Given the description of an element on the screen output the (x, y) to click on. 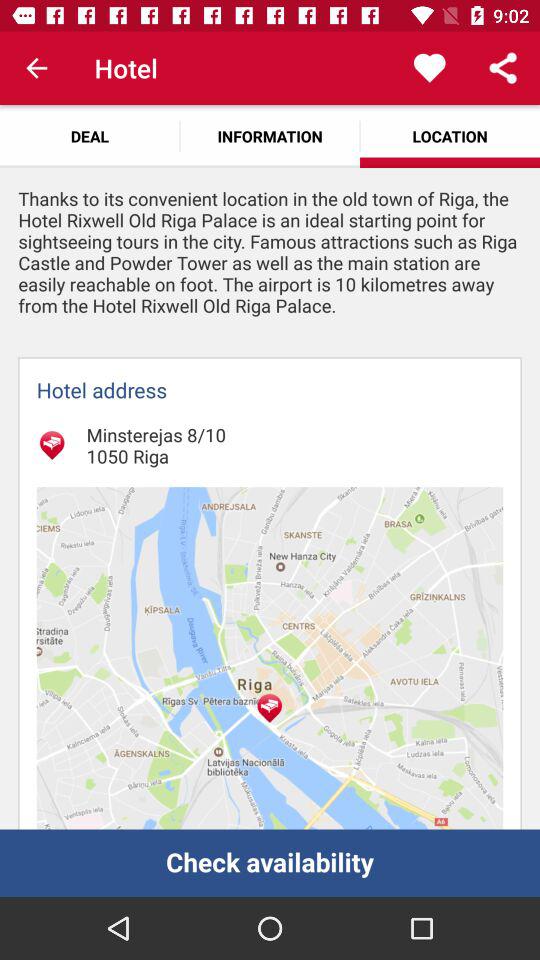
tap the app above the location app (429, 67)
